Given the description of an element on the screen output the (x, y) to click on. 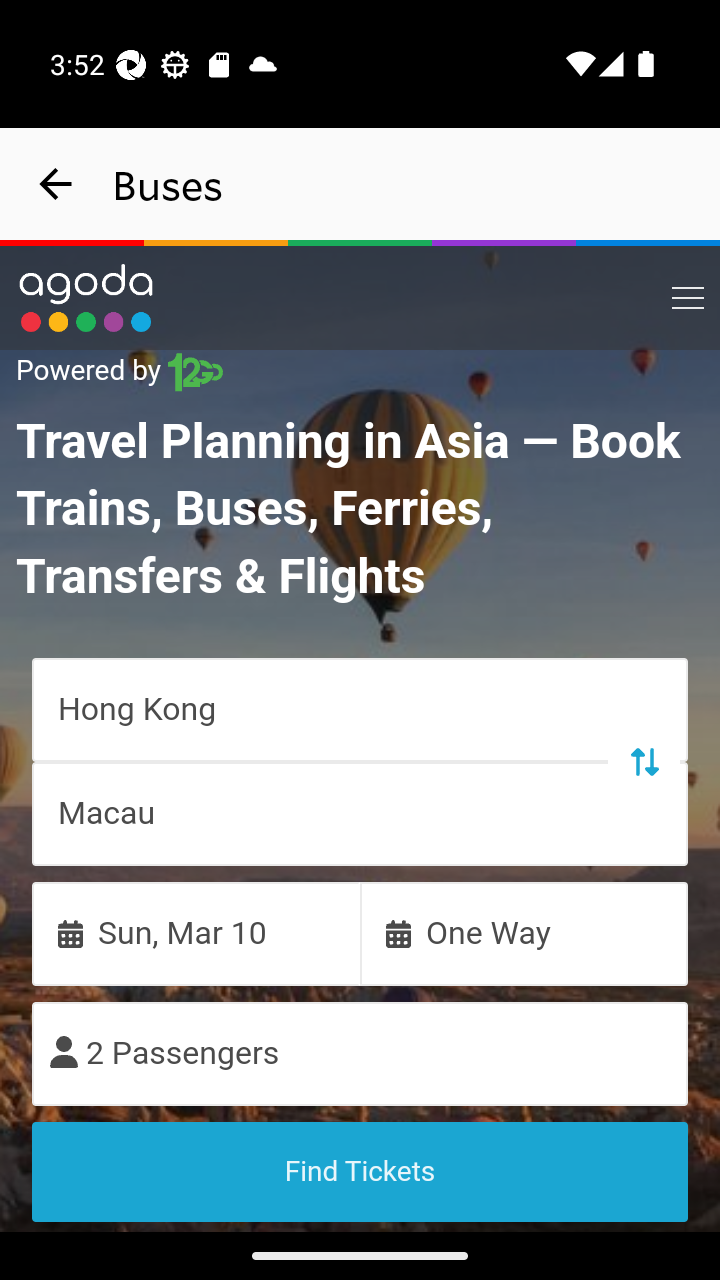
navigation_button (56, 184)
Link to main page 5418 (86, 298)
Hong Kong Swap trip points (359, 708)
Swap trip points (643, 760)
Macau (359, 813)
Sun, Mar 10 (195, 932)
One Way (524, 932)
 2 Passengers (359, 1052)
Find Tickets (359, 1171)
